Given the description of an element on the screen output the (x, y) to click on. 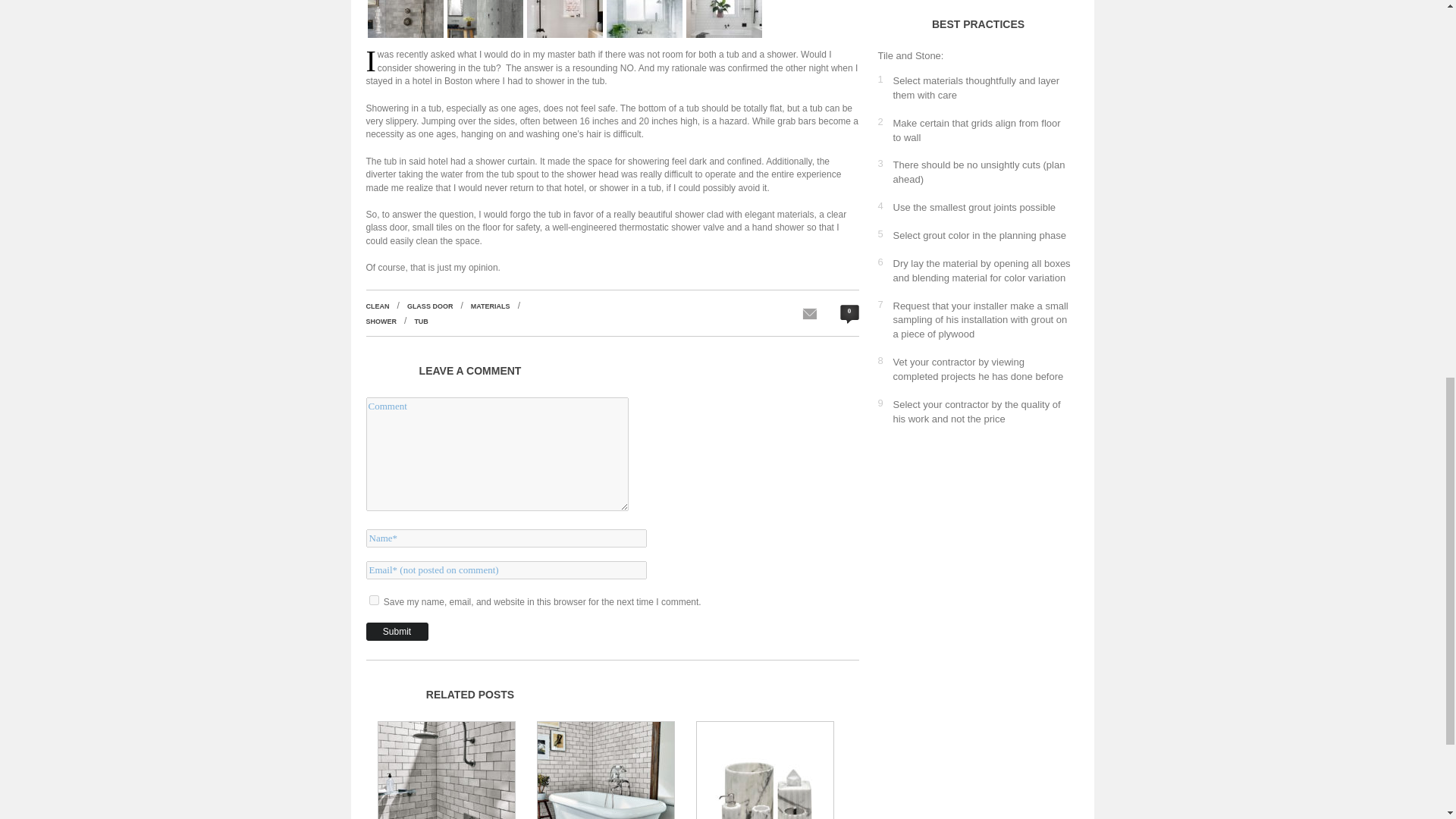
yes (373, 600)
Submit (396, 631)
